Given the description of an element on the screen output the (x, y) to click on. 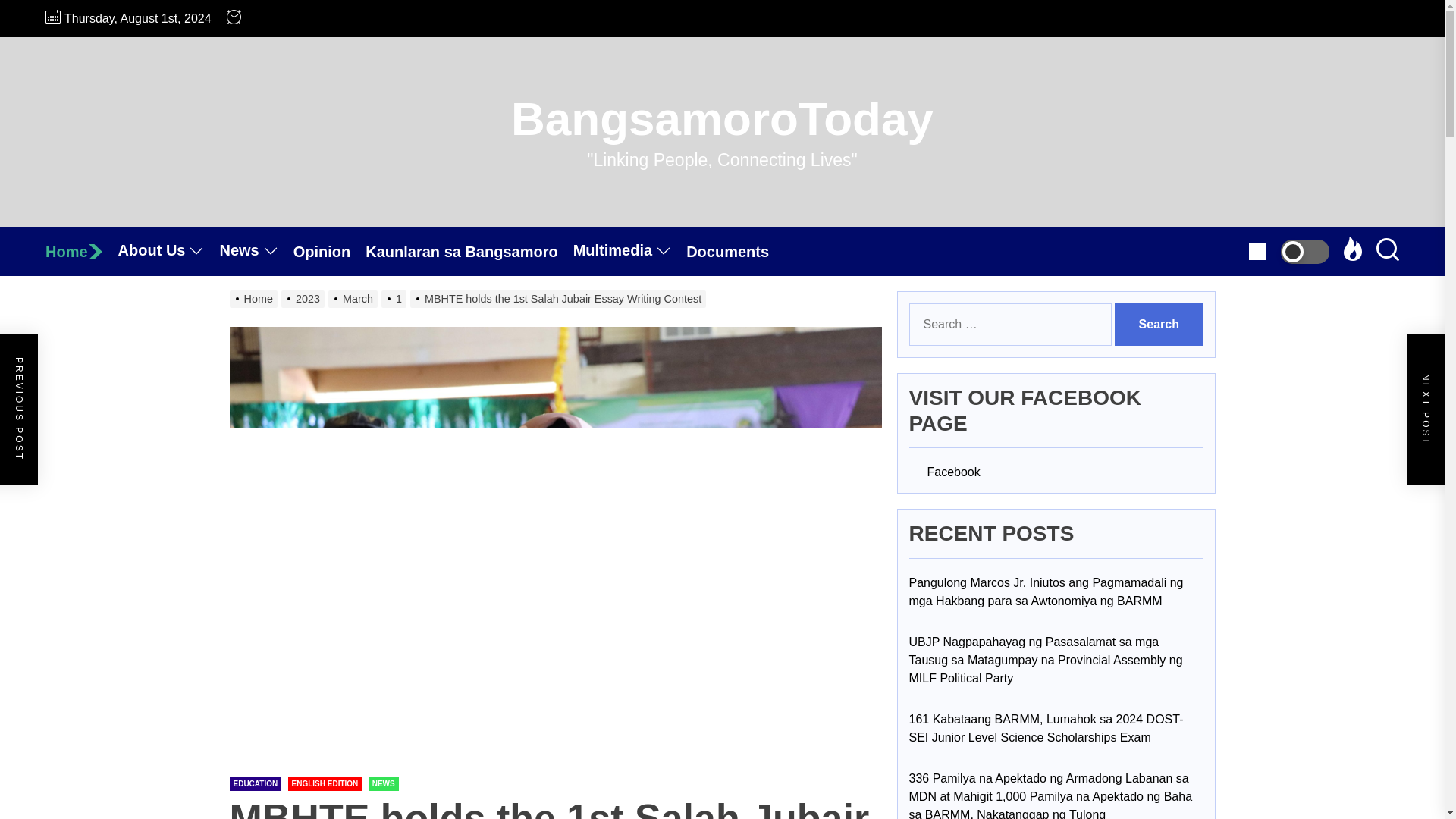
About Us (168, 251)
Opinion (330, 251)
Documents (734, 251)
Multimedia (629, 251)
Home (81, 251)
BangsamoroToday (722, 118)
Home (81, 251)
Search (1158, 324)
Search (1158, 324)
News (255, 251)
Kaunlaran sa Bangsamoro (468, 251)
